Given the description of an element on the screen output the (x, y) to click on. 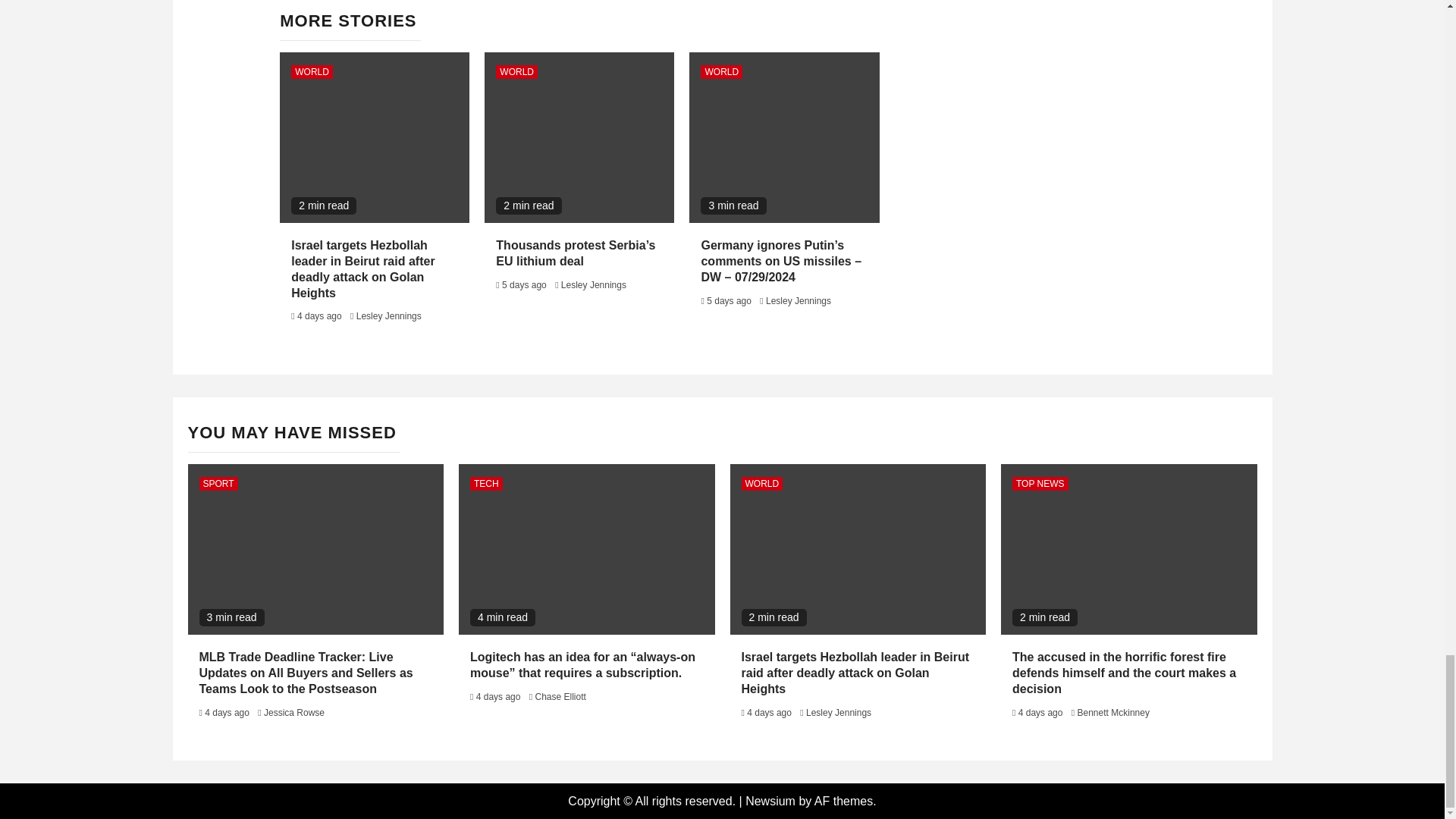
WORLD (516, 71)
Lesley Jennings (593, 285)
WORLD (721, 71)
Lesley Jennings (389, 316)
WORLD (312, 71)
